Given the description of an element on the screen output the (x, y) to click on. 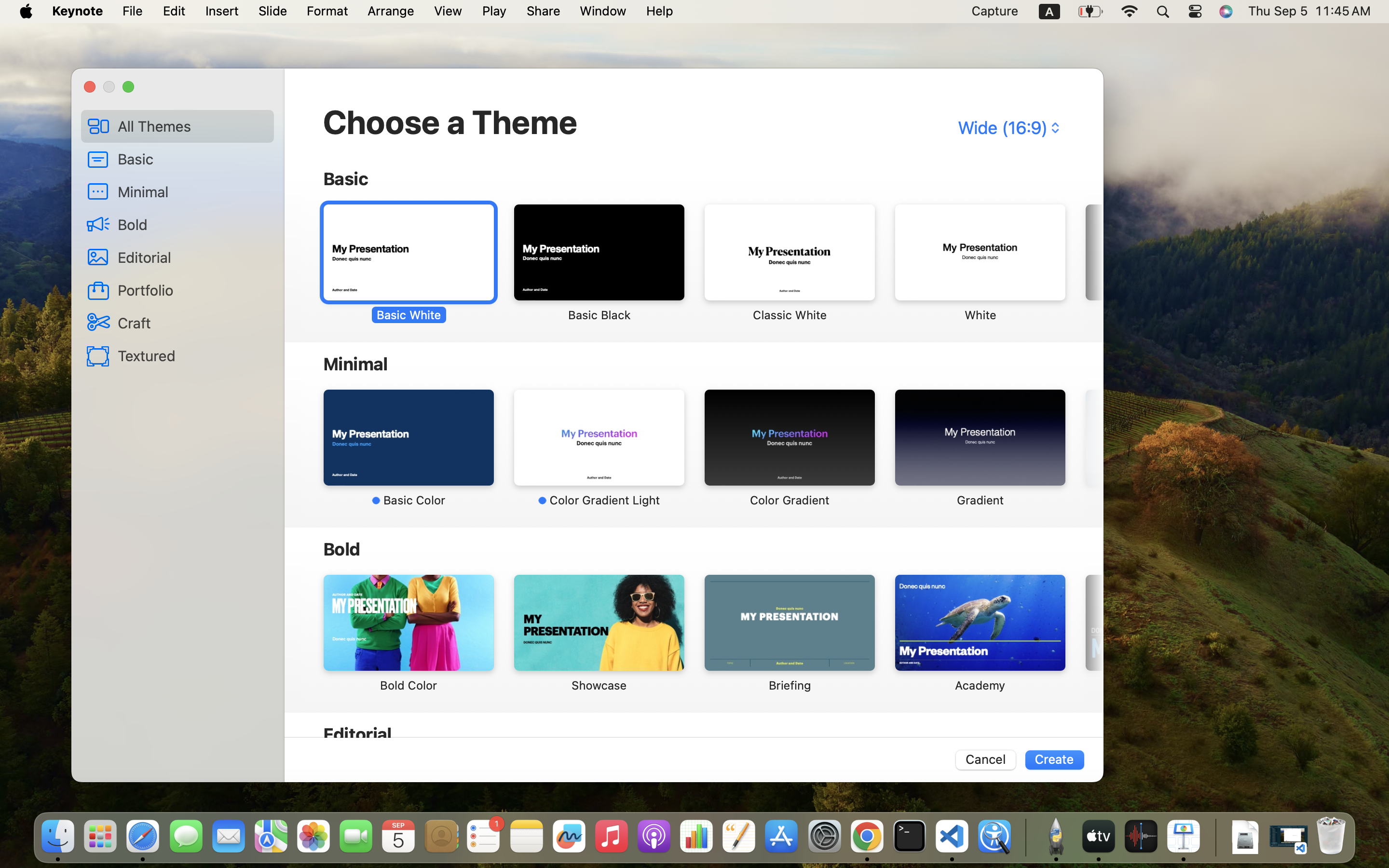
Craft Element type: AXStaticText (191, 322)
Portfolio Element type: AXStaticText (191, 289)
All Themes Element type: AXStaticText (191, 125)
Textured Element type: AXStaticText (191, 355)
Bold Element type: AXStaticText (191, 224)
